Given the description of an element on the screen output the (x, y) to click on. 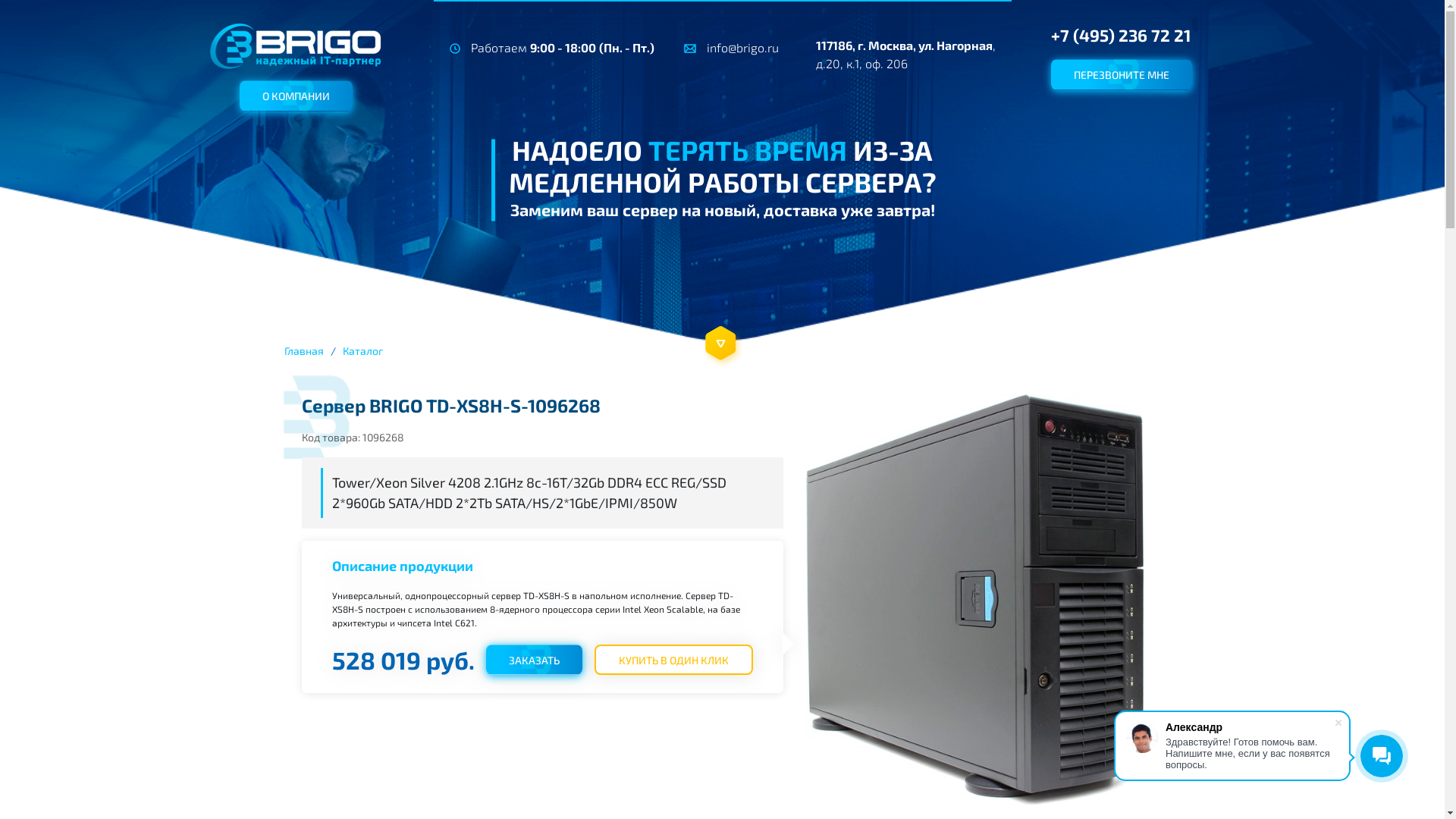
info@brigo.ru Element type: text (738, 47)
+7 (495) 236 72 21 Element type: text (1149, 34)
